Given the description of an element on the screen output the (x, y) to click on. 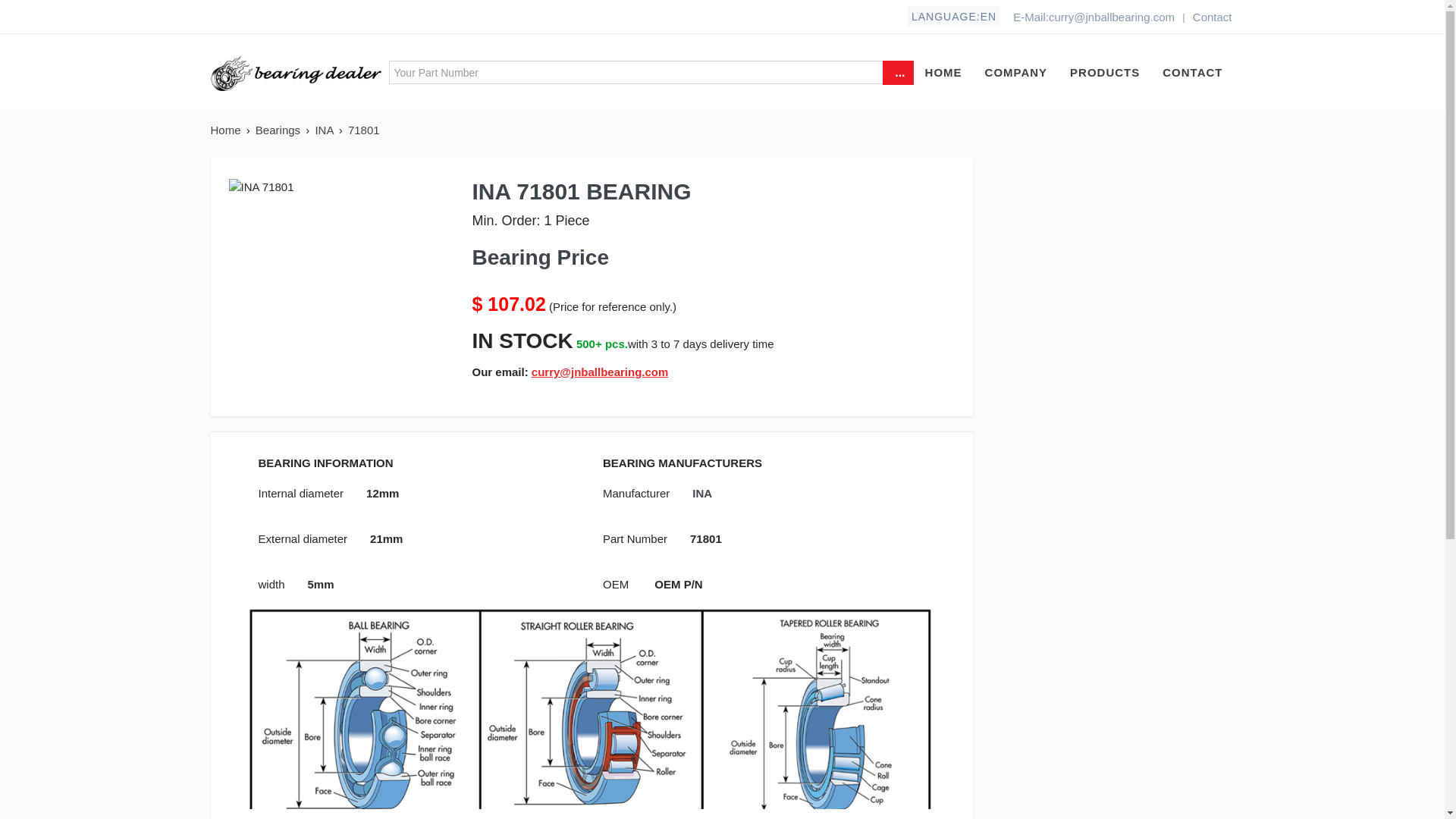
Bearings (279, 129)
CONTACT (1192, 71)
Contact (1211, 16)
LANGUAGE:EN (953, 16)
71801 (363, 129)
Home (227, 129)
COMPANY (1016, 71)
INA (325, 129)
INA (702, 492)
... (897, 72)
